Given the description of an element on the screen output the (x, y) to click on. 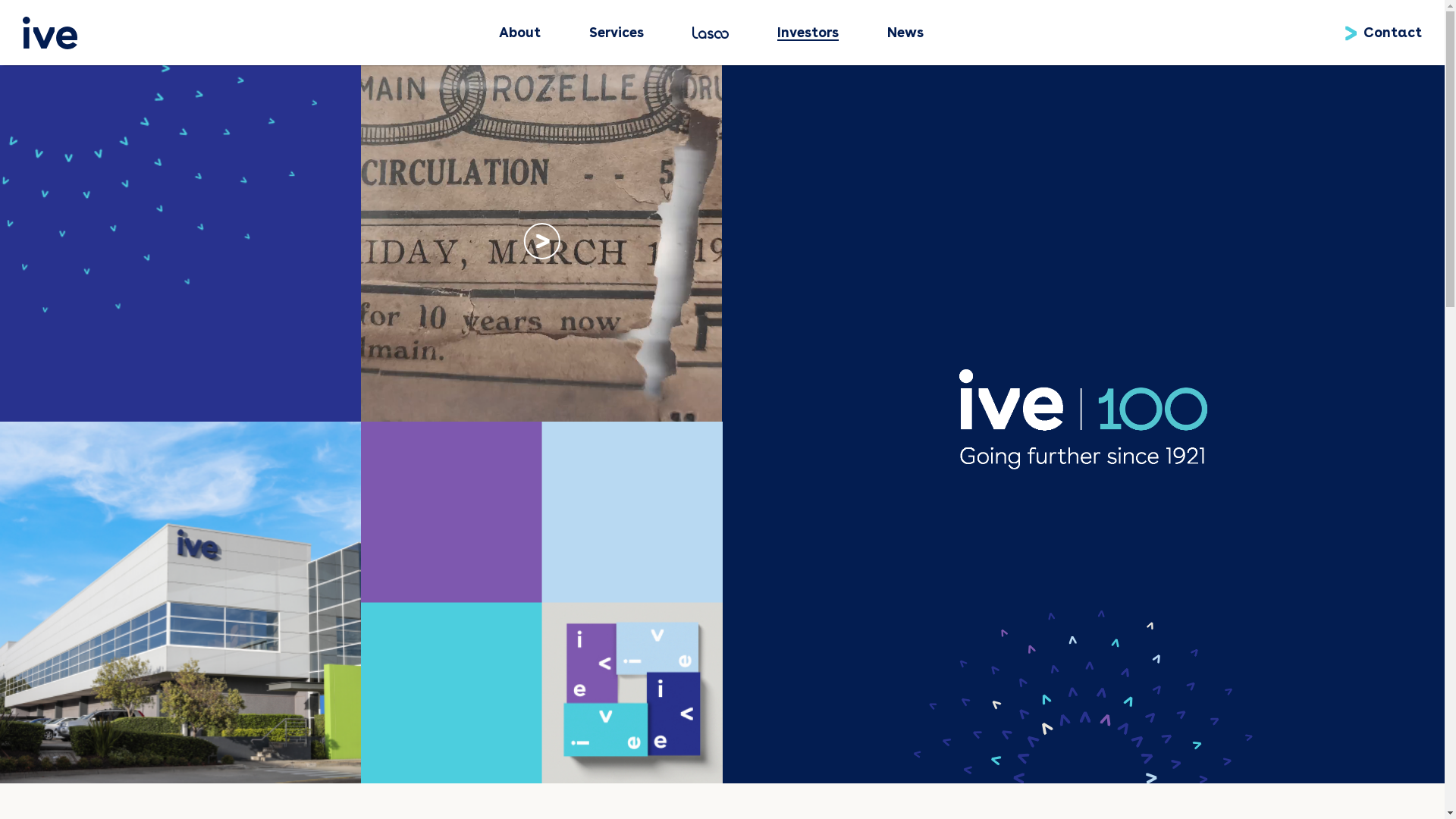
Investors Element type: text (807, 32)
Services Element type: text (616, 32)
Contact Element type: text (1394, 32)
News Element type: text (905, 32)
About Element type: text (519, 32)
